Given the description of an element on the screen output the (x, y) to click on. 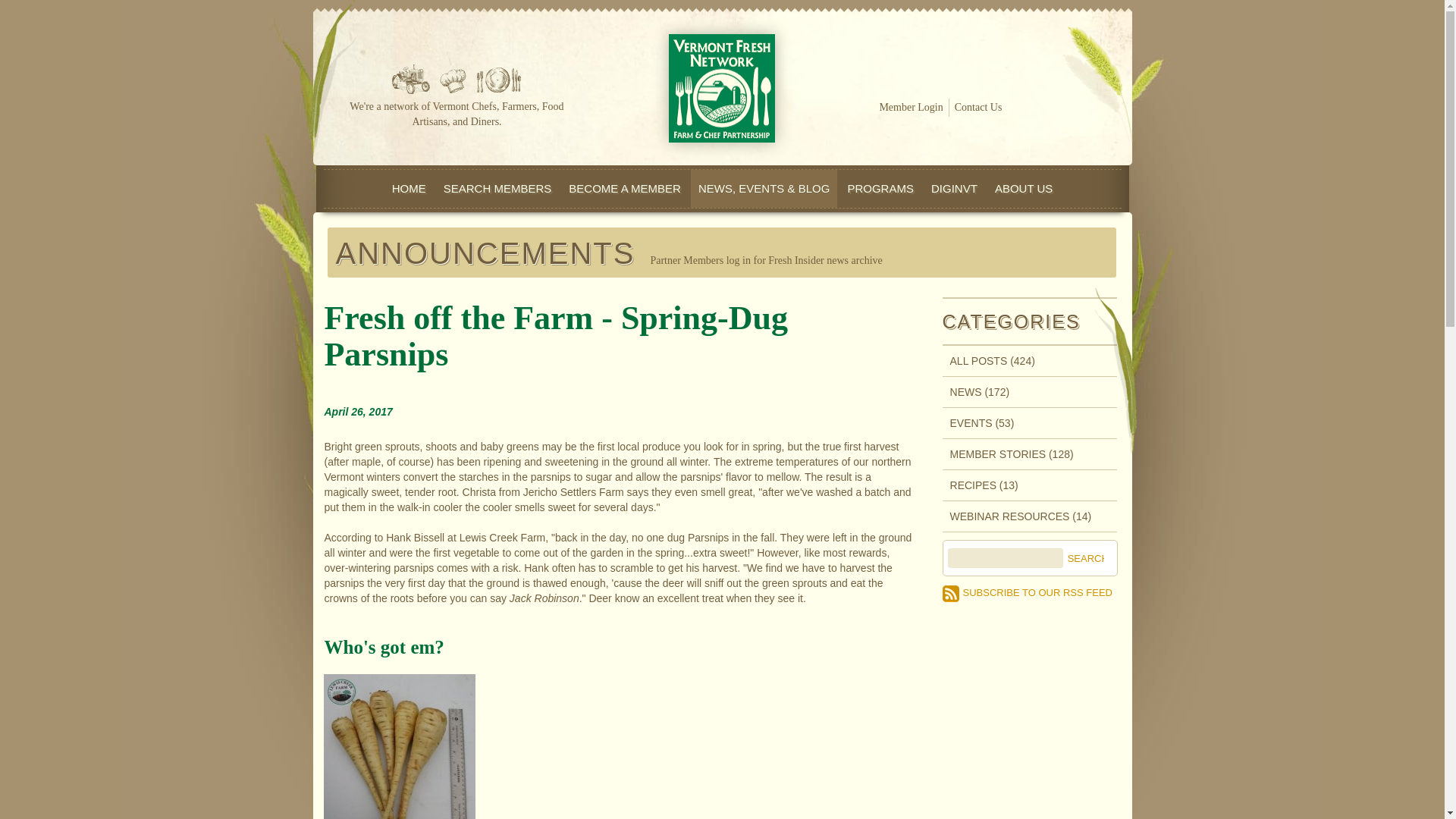
SUBSCRIBE TO OUR RSS FEED (1027, 592)
SEARCH MEMBERS (497, 188)
HOME (408, 188)
Member Login (910, 107)
Search (1082, 558)
PROGRAMS (880, 188)
DIGINVT (954, 188)
Search (1082, 558)
Search (1082, 558)
ABOUT US (1023, 188)
Contact Us (978, 107)
BECOME A MEMBER (624, 188)
